Given the description of an element on the screen output the (x, y) to click on. 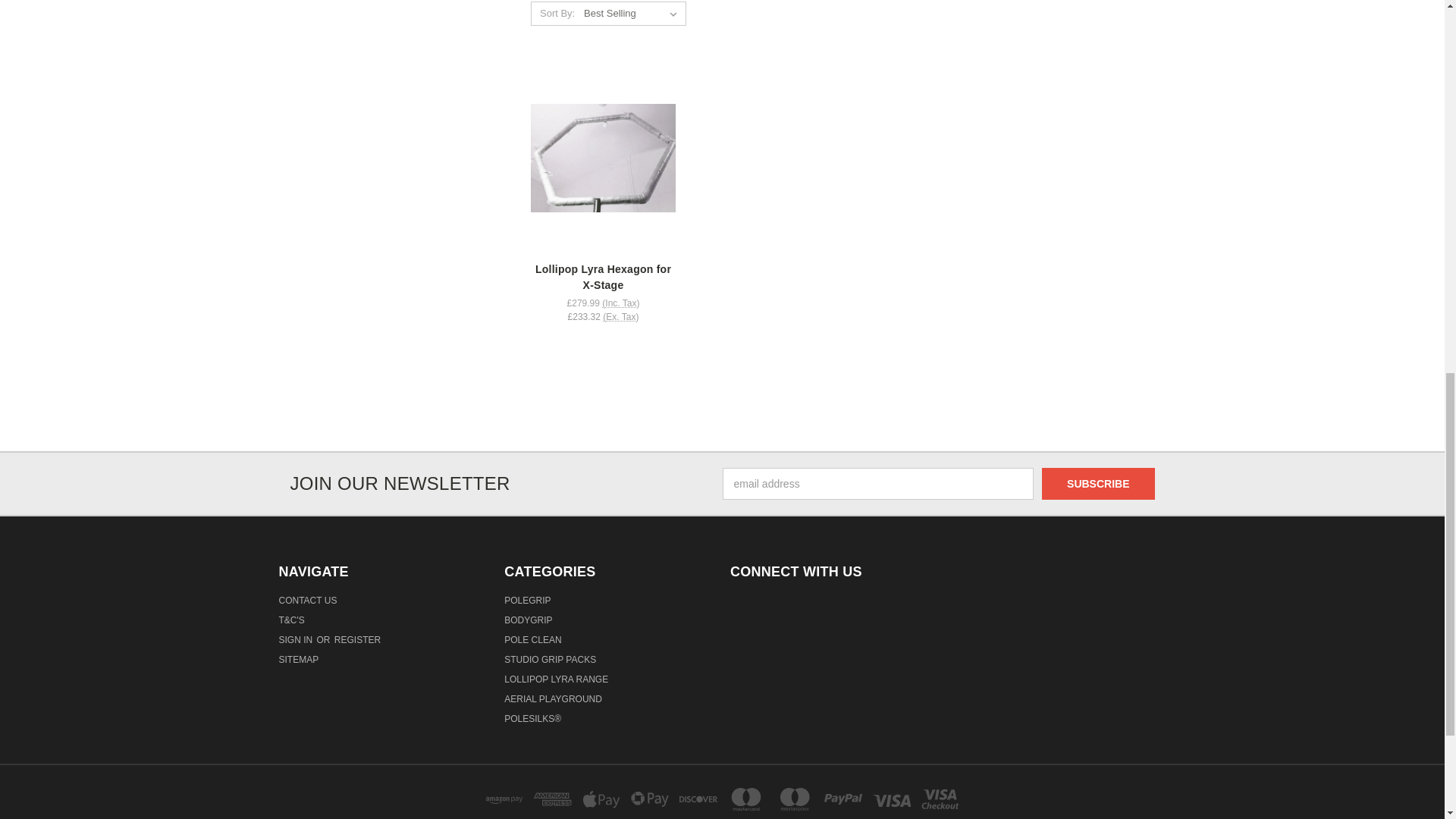
Excluding Tax (620, 317)
Subscribe (1098, 483)
Including Tax (620, 303)
